Given the description of an element on the screen output the (x, y) to click on. 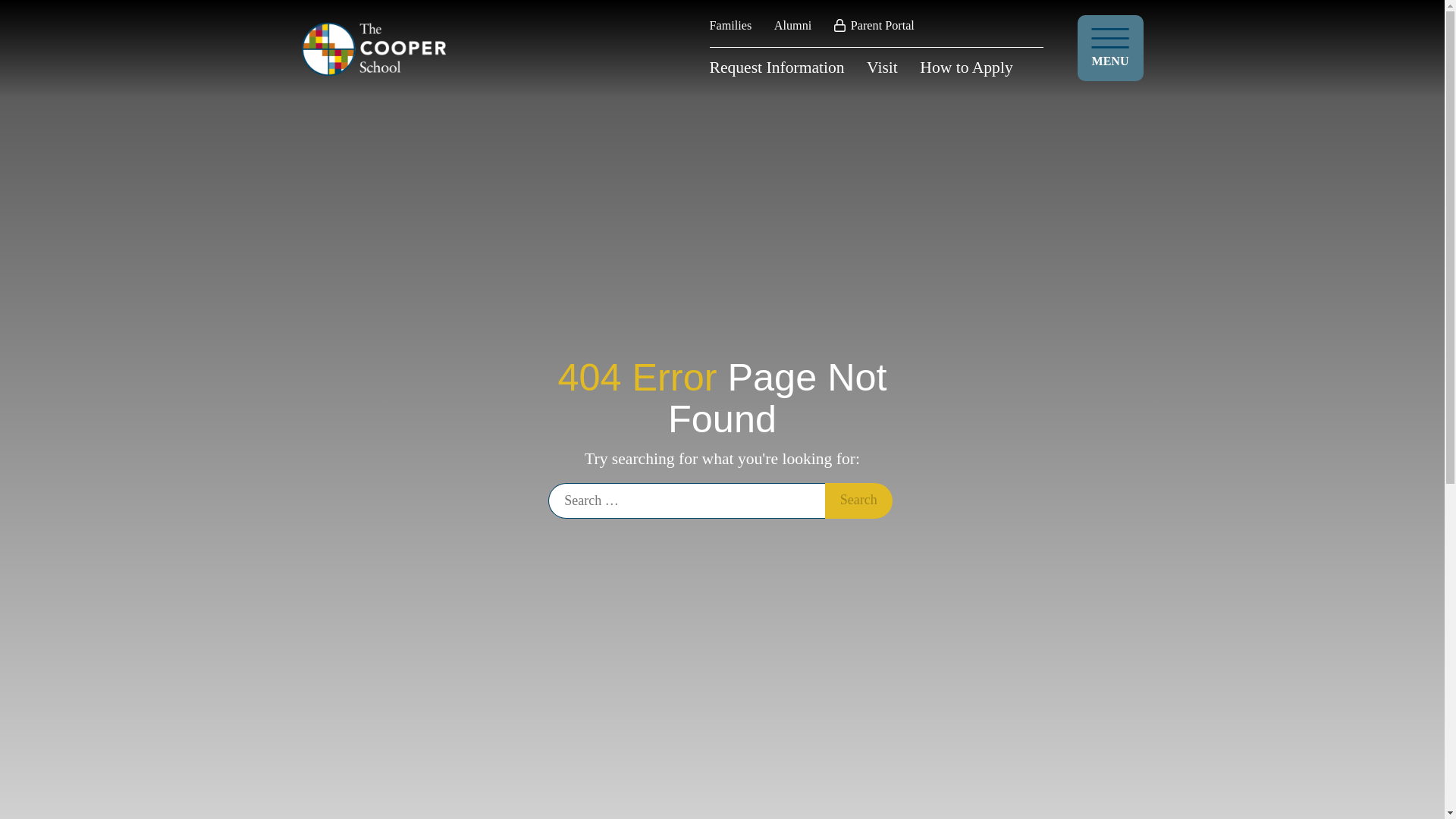
Parent Portal (874, 25)
Search (858, 500)
MENU (1109, 48)
Request Information (777, 67)
How to Apply (965, 67)
Visit (882, 67)
Alumni (792, 25)
Families (731, 25)
